Given the description of an element on the screen output the (x, y) to click on. 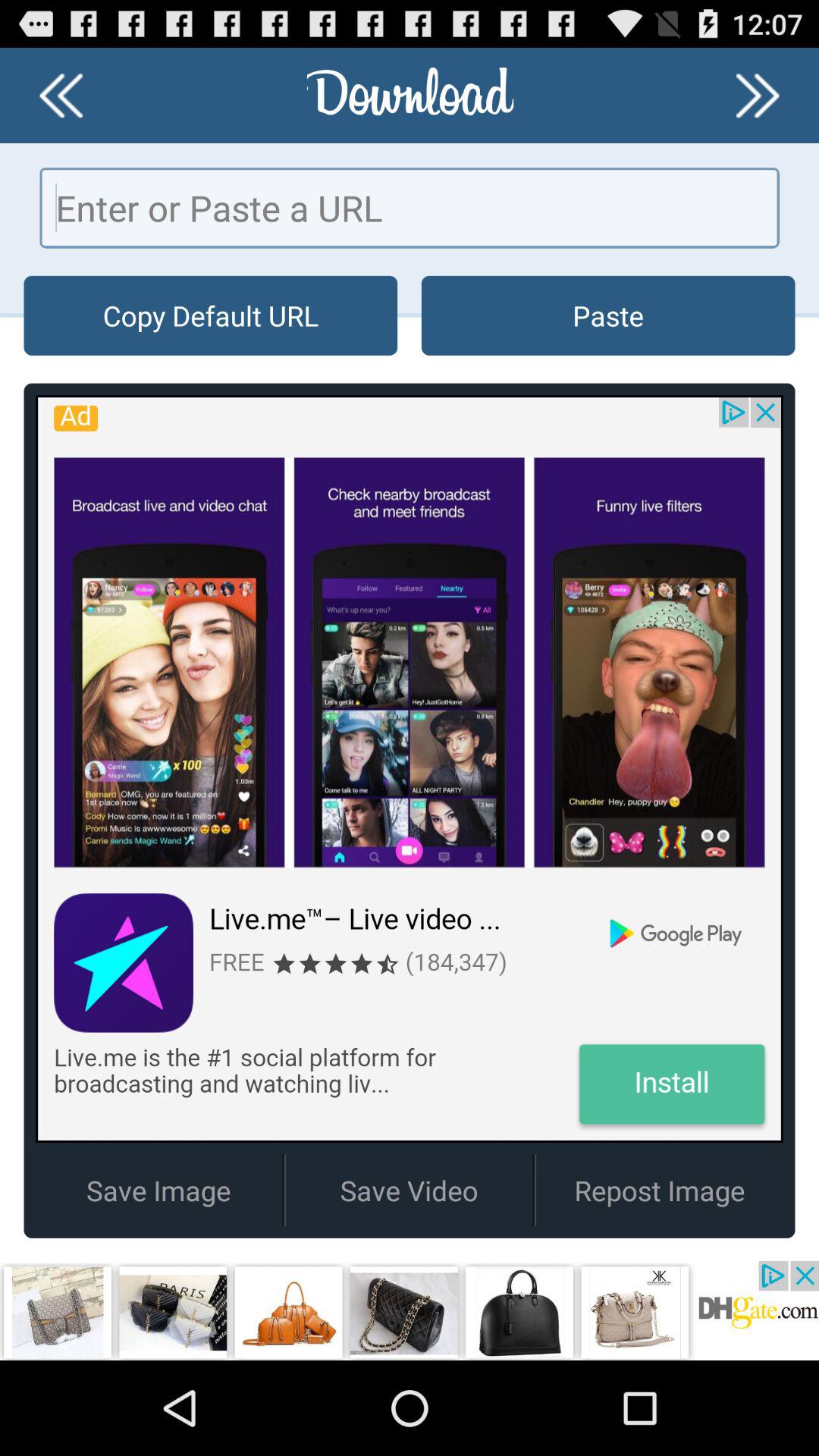
url (409, 207)
